Given the description of an element on the screen output the (x, y) to click on. 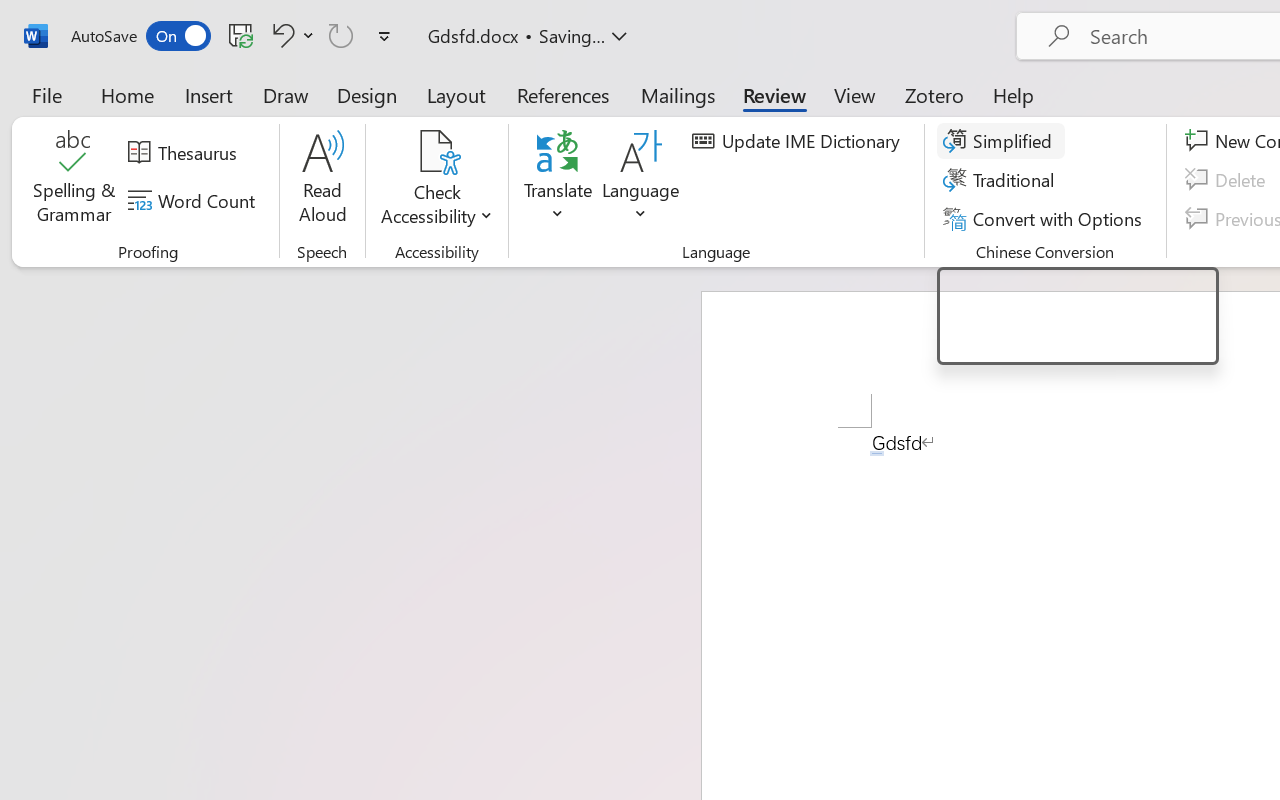
Translate (558, 179)
Undo AutoCorrect (280, 35)
Check Accessibility (436, 151)
Action: Undo Auto Actions (877, 453)
Update IME Dictionary... (799, 141)
Undo AutoCorrect (290, 35)
Convert with Options... (1045, 218)
